Given the description of an element on the screen output the (x, y) to click on. 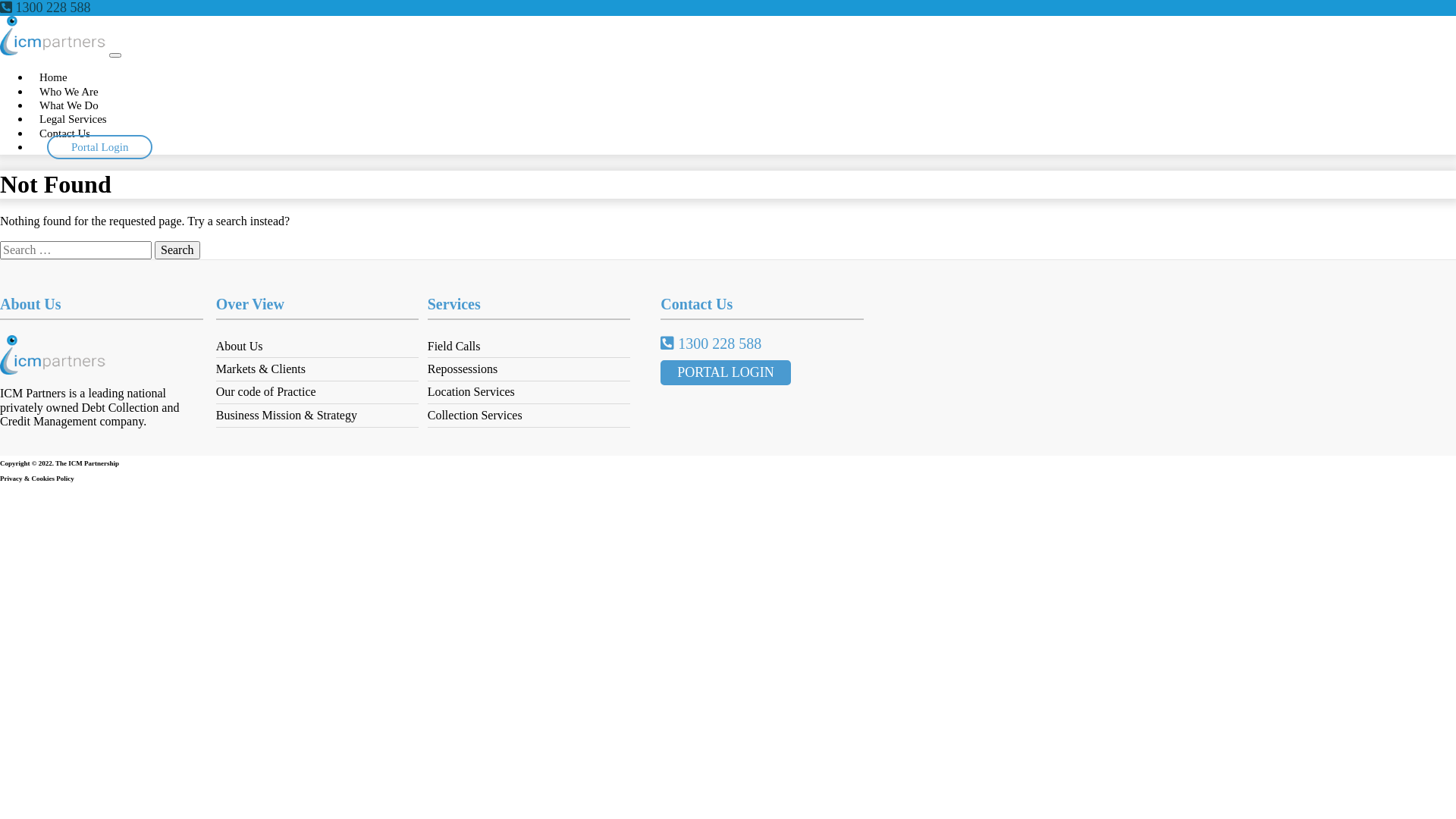
Home Element type: text (53, 77)
Legal Services Element type: text (73, 118)
Business Mission & Strategy Element type: text (286, 414)
Field Calls Element type: text (453, 345)
Markets & Clients Element type: text (260, 368)
What We Do Element type: text (68, 105)
1300 228 588 Element type: text (710, 343)
Our code of Practice Element type: text (266, 391)
Location Services Element type: text (470, 391)
Collection Services Element type: text (474, 414)
Who We Are Element type: text (68, 91)
Privacy & Cookies Policy Element type: text (492, 478)
Contact Us Element type: text (64, 133)
PORTAL LOGIN Element type: text (725, 372)
Portal Login Element type: text (99, 146)
Search Element type: text (177, 250)
1300 228 588 Element type: text (45, 7)
Repossessions Element type: text (462, 368)
About Us Element type: text (239, 345)
